Given the description of an element on the screen output the (x, y) to click on. 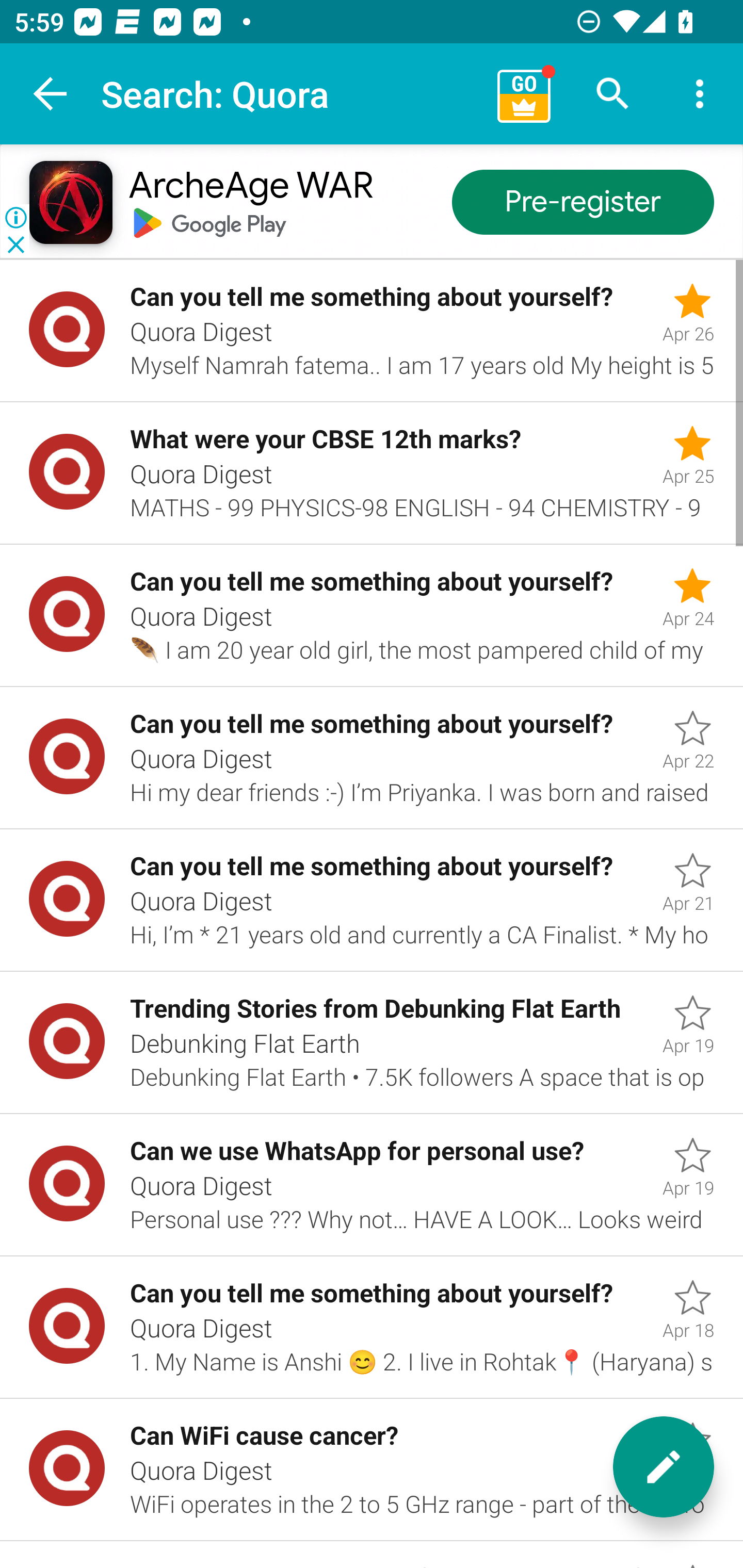
Navigate up (50, 93)
Search (612, 93)
More options (699, 93)
ArcheAge WAR (250, 186)
Pre-register (582, 202)
New message (663, 1466)
